Given the description of an element on the screen output the (x, y) to click on. 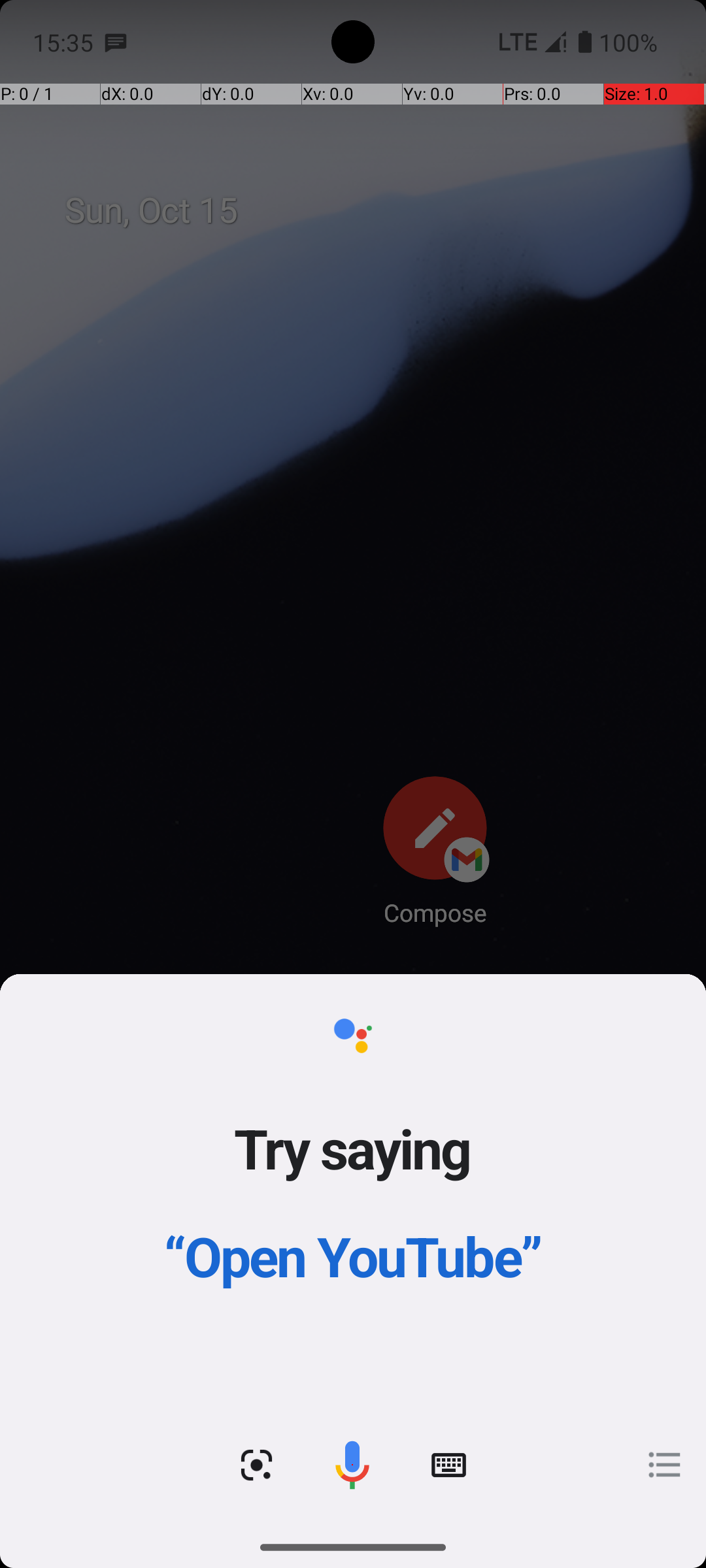
Google Assistant greeting container. Element type: android.widget.LinearLayout (353, 1188)
Voice search button, tap to speak Element type: android.view.View (351, 1465)
Type mode Element type: android.widget.ImageView (448, 1465)
Google Assistant greeting. Element type: android.widget.FrameLayout (353, 1250)
Try saying Element type: android.widget.TextView (352, 1147)
“Open YouTube” Element type: android.widget.TextView (352, 1255)
